Given the description of an element on the screen output the (x, y) to click on. 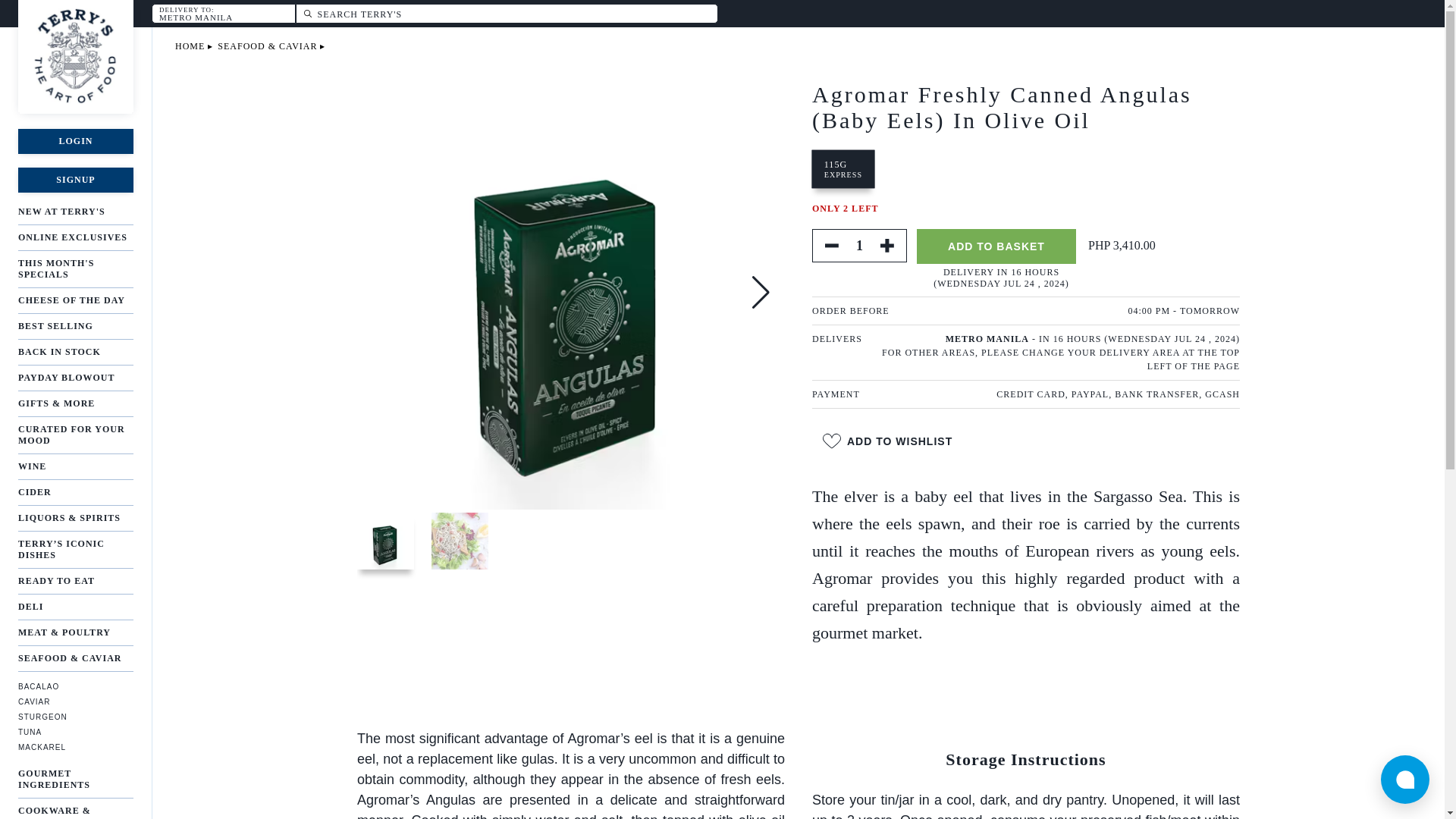
BEST SELLING (75, 326)
LOGIN (75, 140)
MACKAREL (75, 746)
CURATED FOR YOUR MOOD (75, 435)
CAVIAR (75, 701)
ADD TO WISHLIST (887, 440)
Open chat window (843, 168)
Submit the search query. (1404, 779)
BACK IN STOCK (307, 13)
CHEESE OF THE DAY (75, 352)
PAYDAY BLOWOUT (75, 300)
BACALAO (75, 378)
The Home of Spanish Food in the Philippines (75, 686)
READY TO EAT (65, 56)
